Given the description of an element on the screen output the (x, y) to click on. 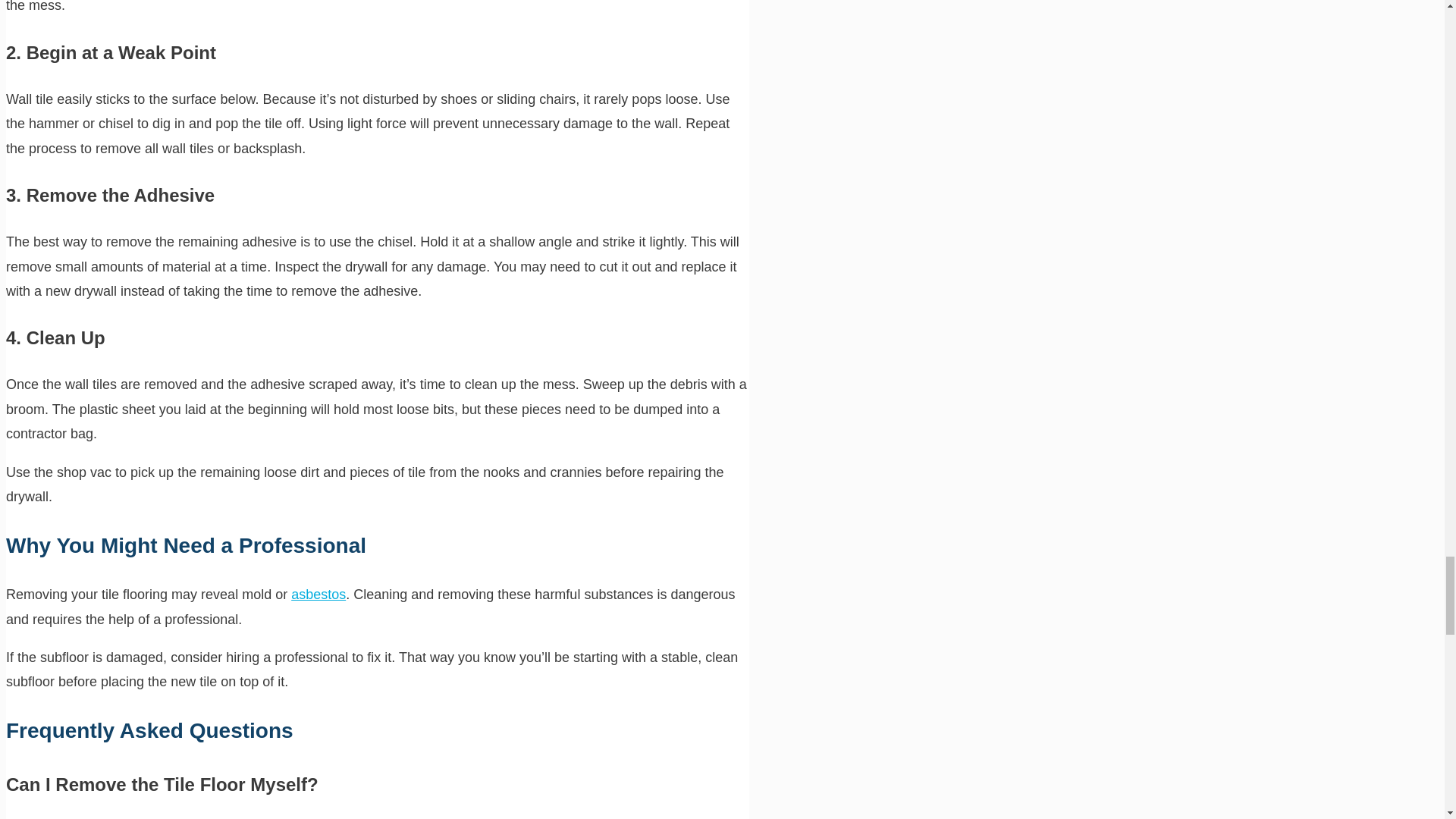
asbestos (318, 594)
